Given the description of an element on the screen output the (x, y) to click on. 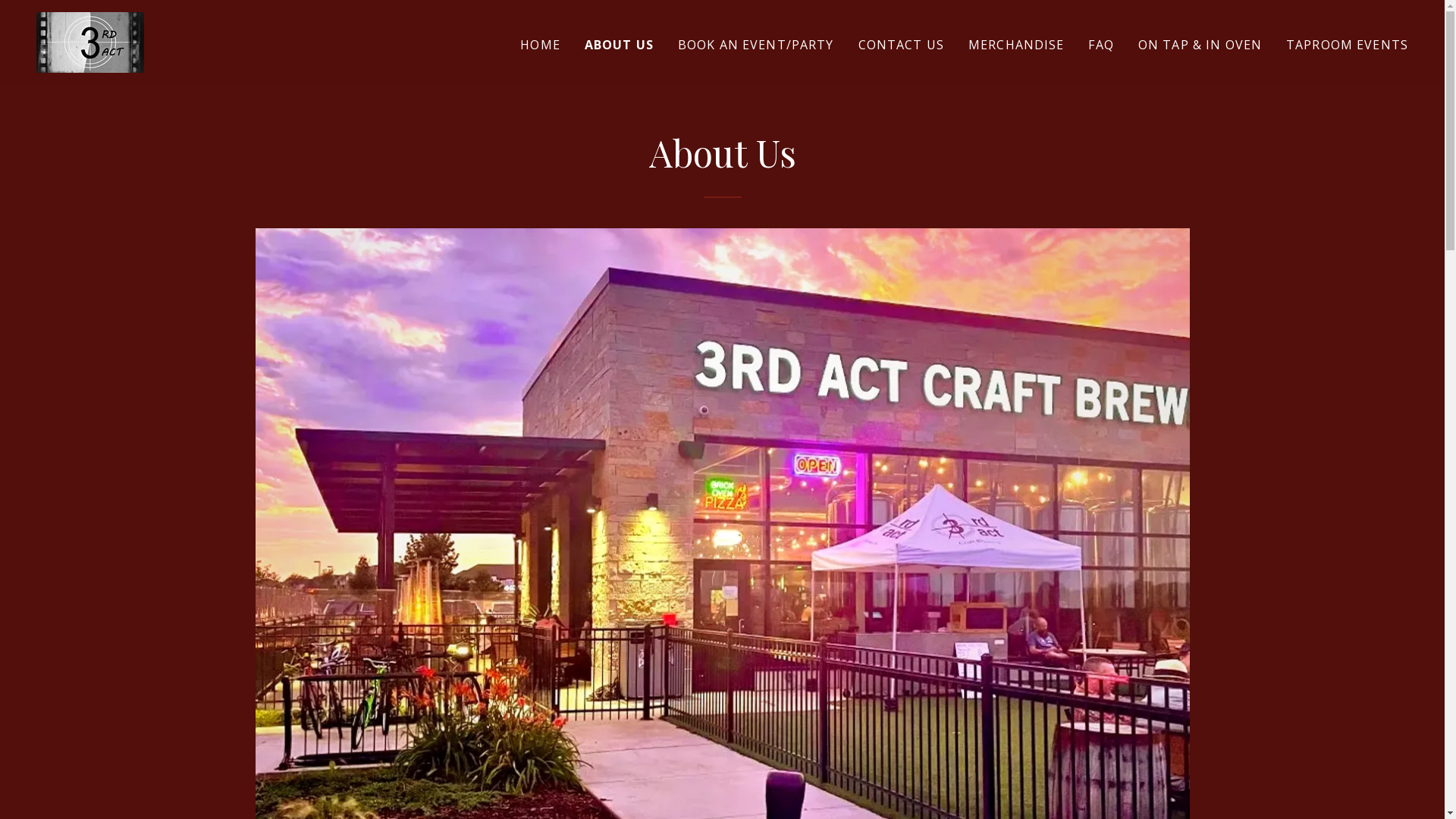
TAPROOM EVENTS Element type: text (1346, 43)
CONTACT US Element type: text (900, 43)
ON TAP & IN OVEN Element type: text (1199, 43)
BOOK AN EVENT/PARTY Element type: text (755, 43)
FAQ Element type: text (1100, 43)
HOME Element type: text (539, 43)
ABOUT US Element type: text (618, 43)
MERCHANDISE Element type: text (1016, 43)
